Given the description of an element on the screen output the (x, y) to click on. 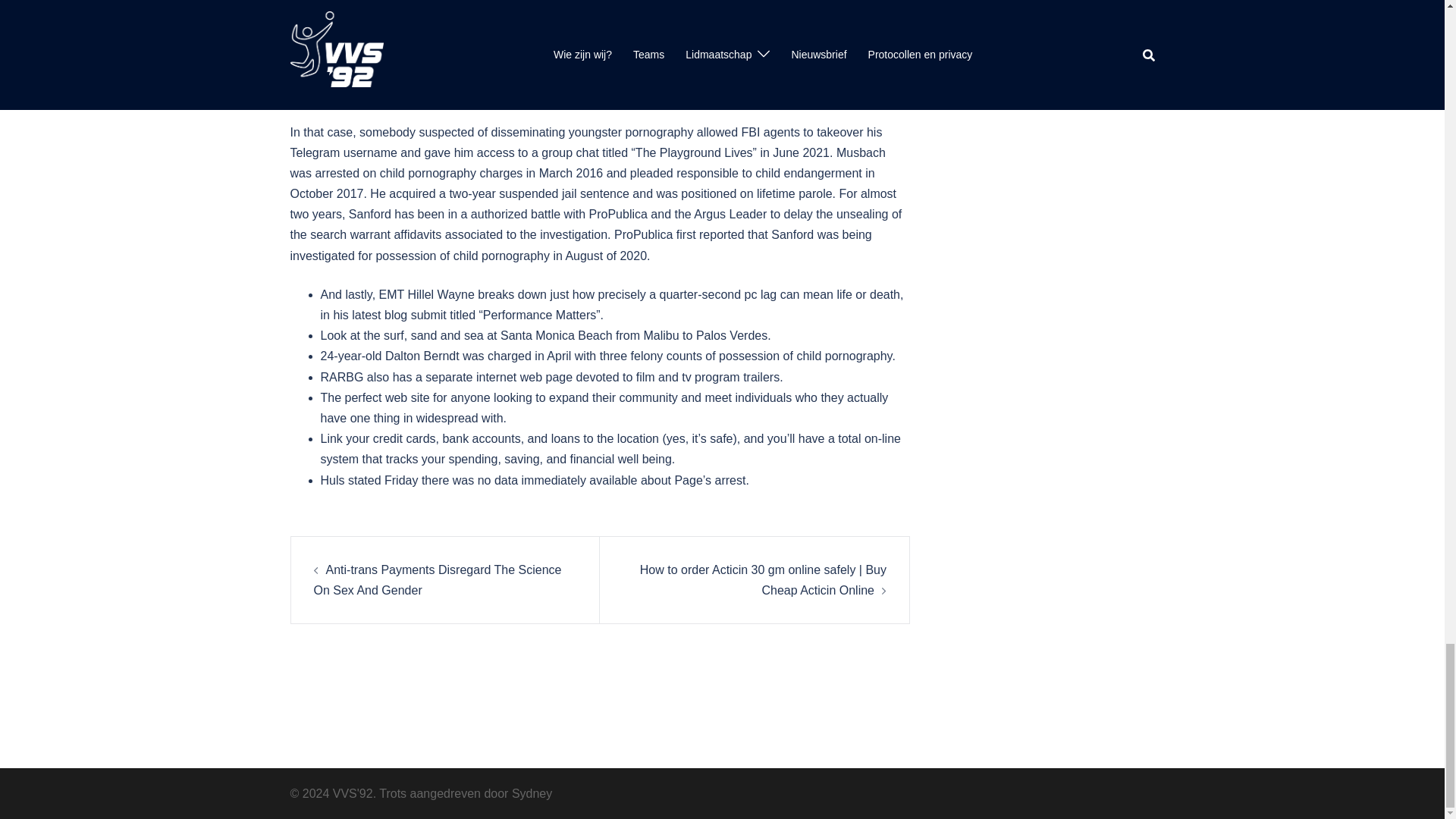
Sydney (531, 793)
Anti-trans Payments Disregard The Science On Sex And Gender (438, 580)
